Given the description of an element on the screen output the (x, y) to click on. 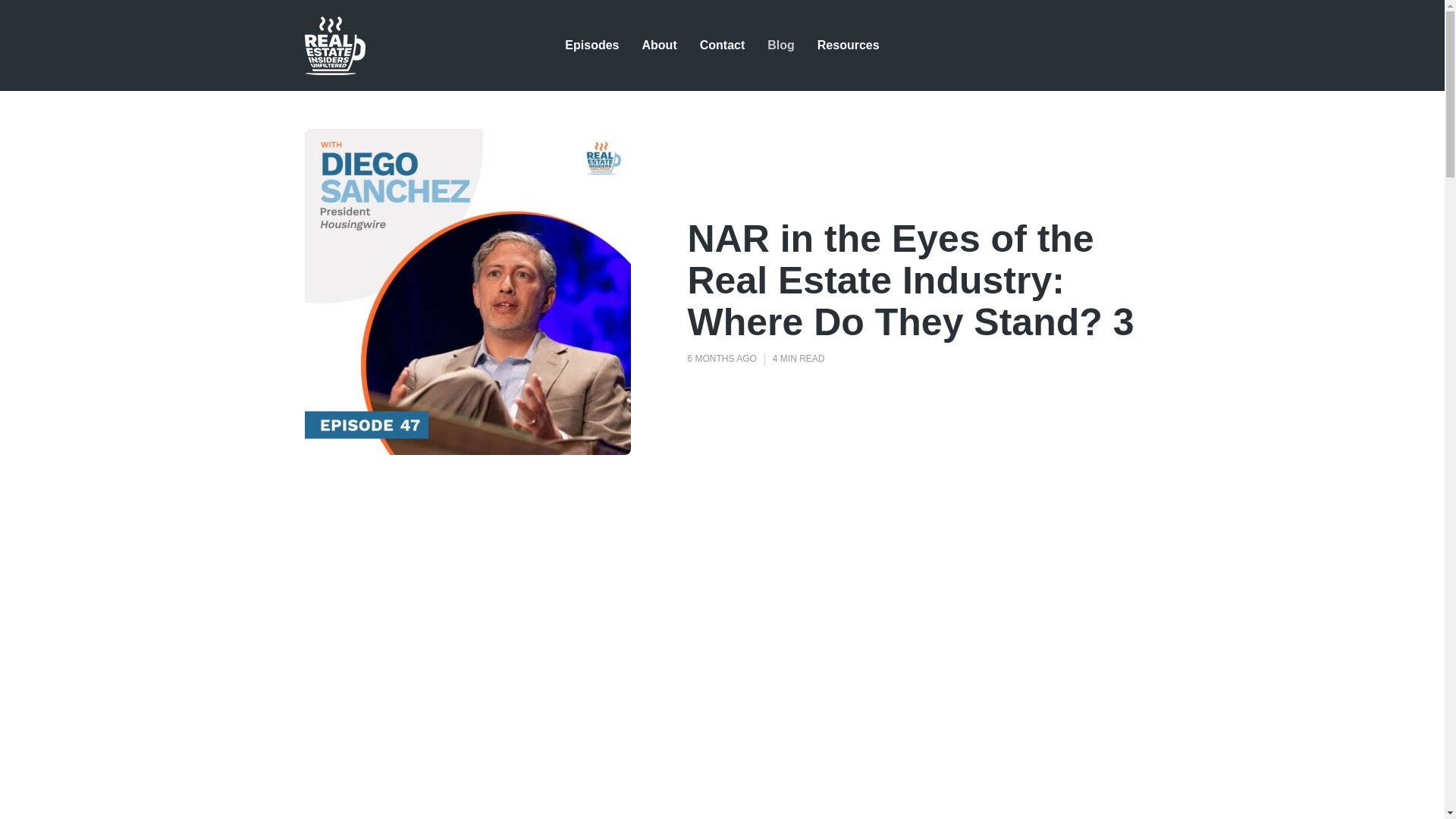
Episodes (591, 45)
Blog (780, 45)
Resources (847, 45)
Contact (722, 45)
About (659, 45)
